Given the description of an element on the screen output the (x, y) to click on. 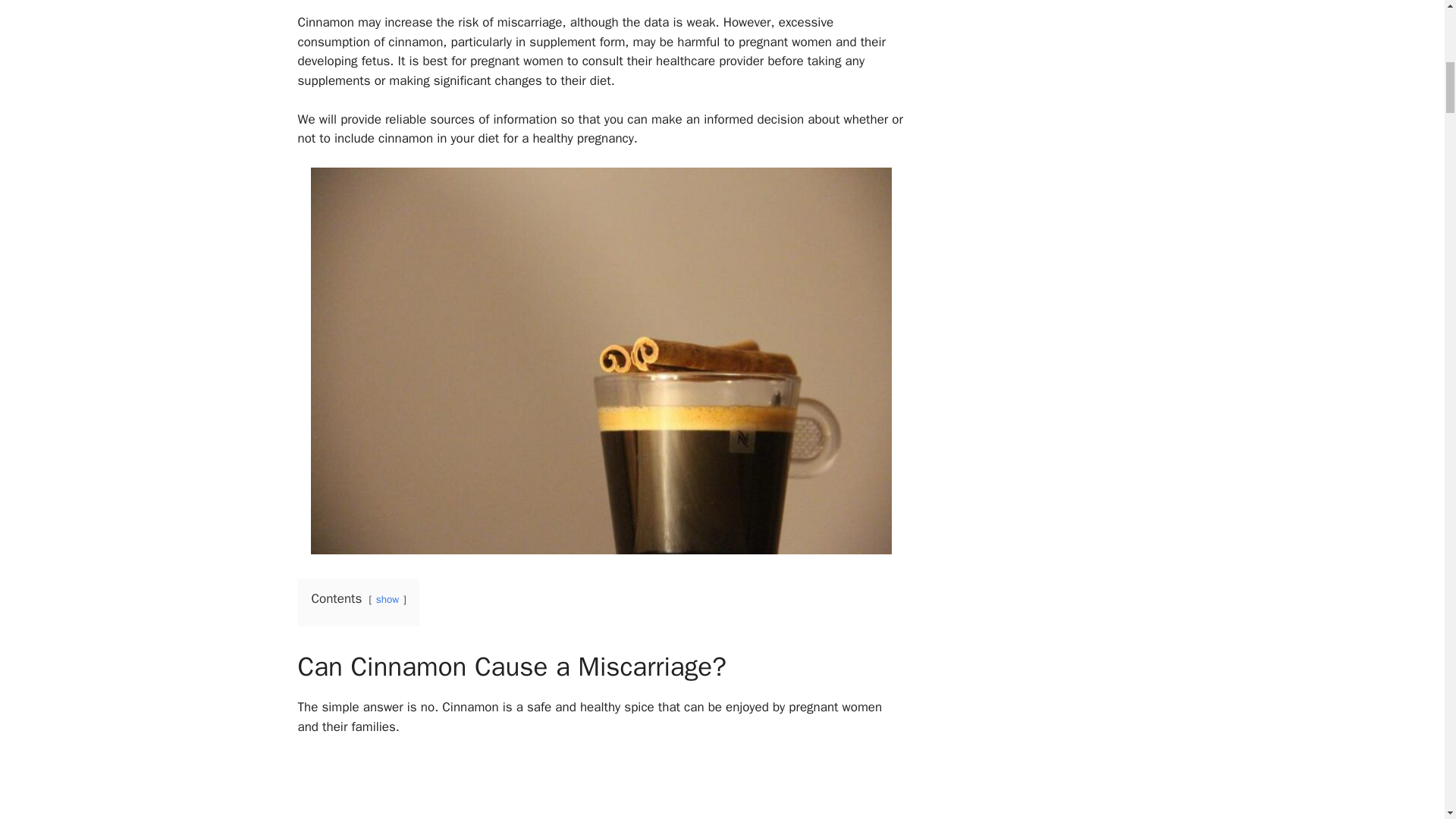
show (386, 599)
